Given the description of an element on the screen output the (x, y) to click on. 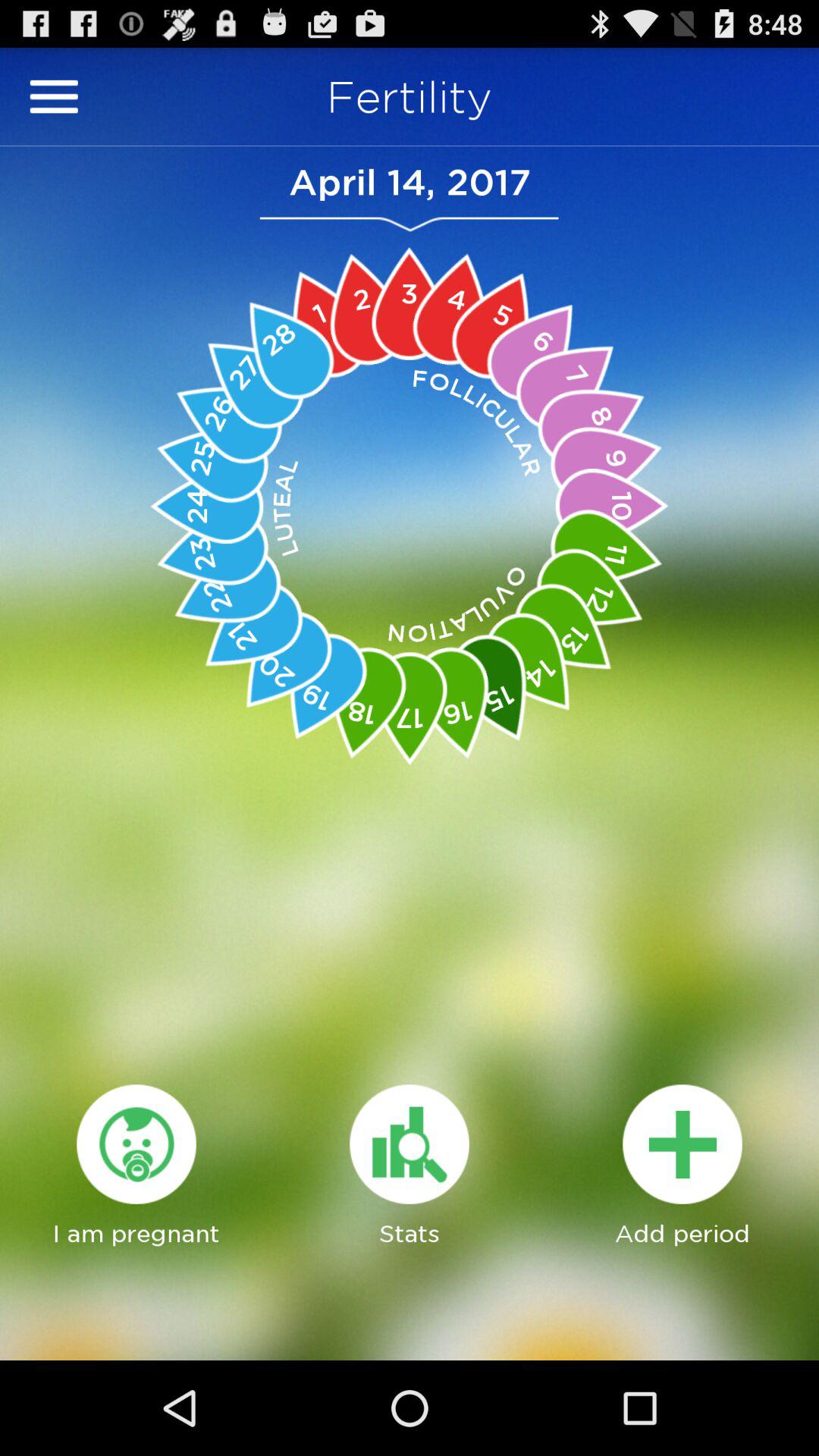
click on 3 in the red color (409, 303)
click on 3 in the red color (409, 303)
click on option 3 which is red in color (409, 303)
click on the icon which is above i am pregnant (136, 1144)
